Given the description of an element on the screen output the (x, y) to click on. 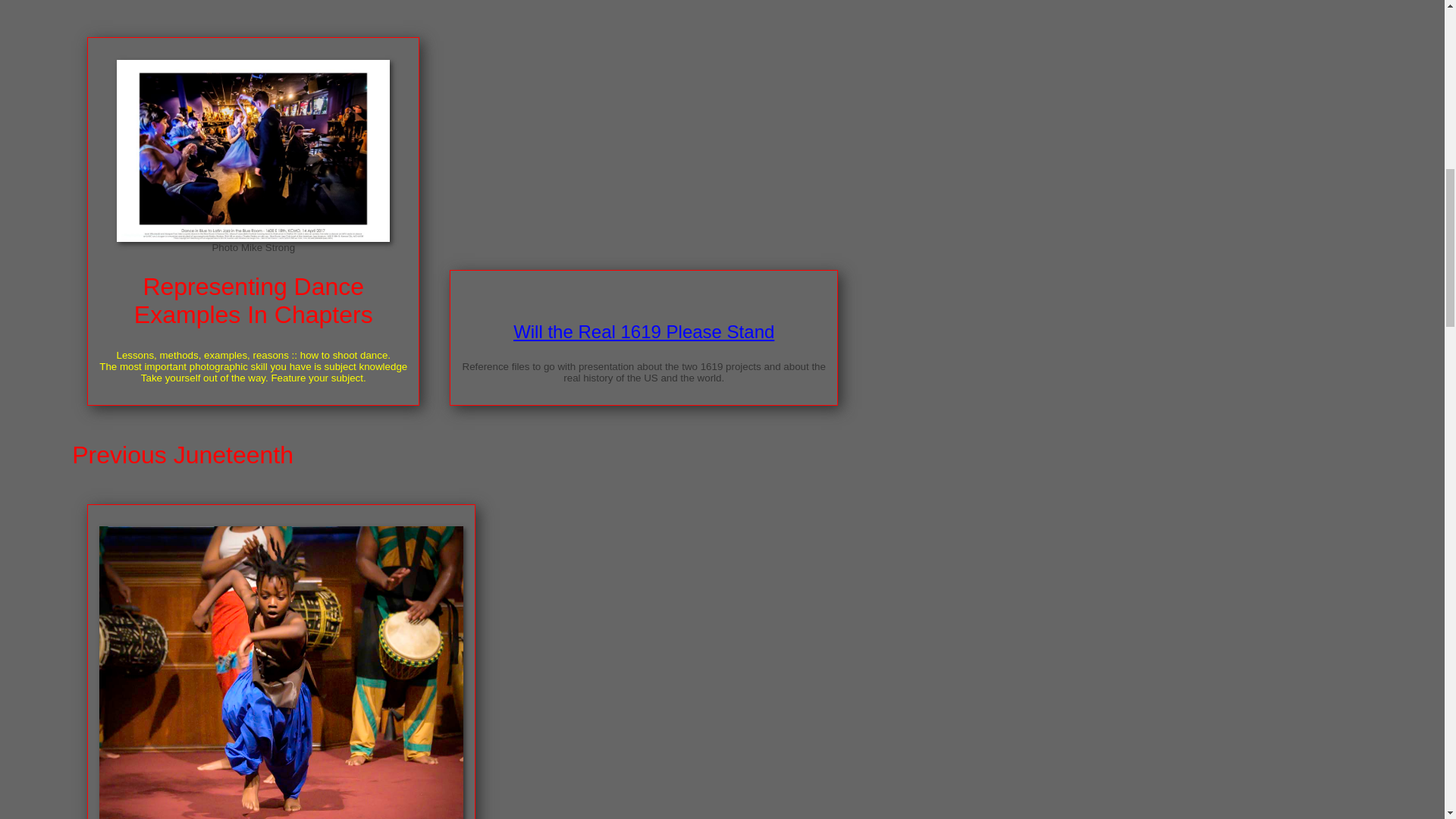
Will the Real 1619 Please Stand (643, 331)
